Given the description of an element on the screen output the (x, y) to click on. 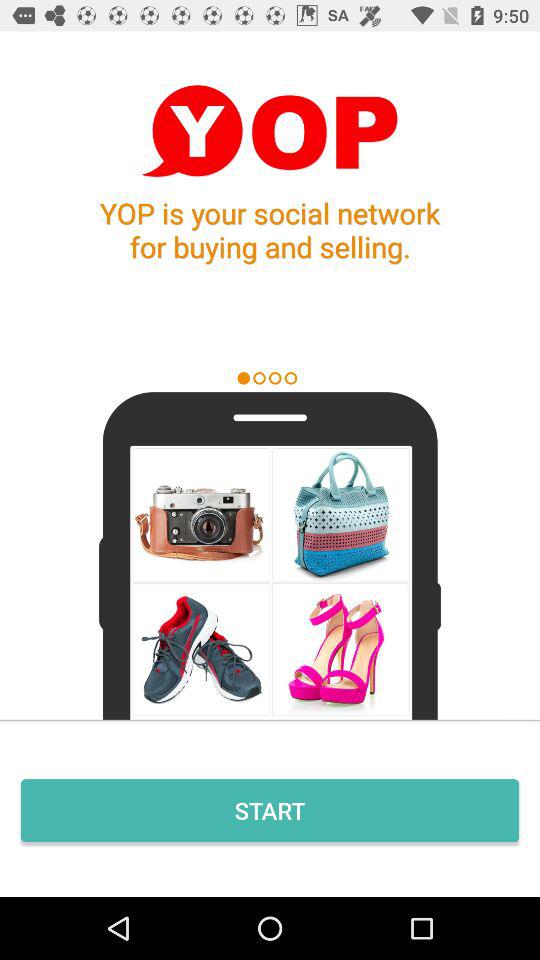
flip until start item (270, 810)
